Given the description of an element on the screen output the (x, y) to click on. 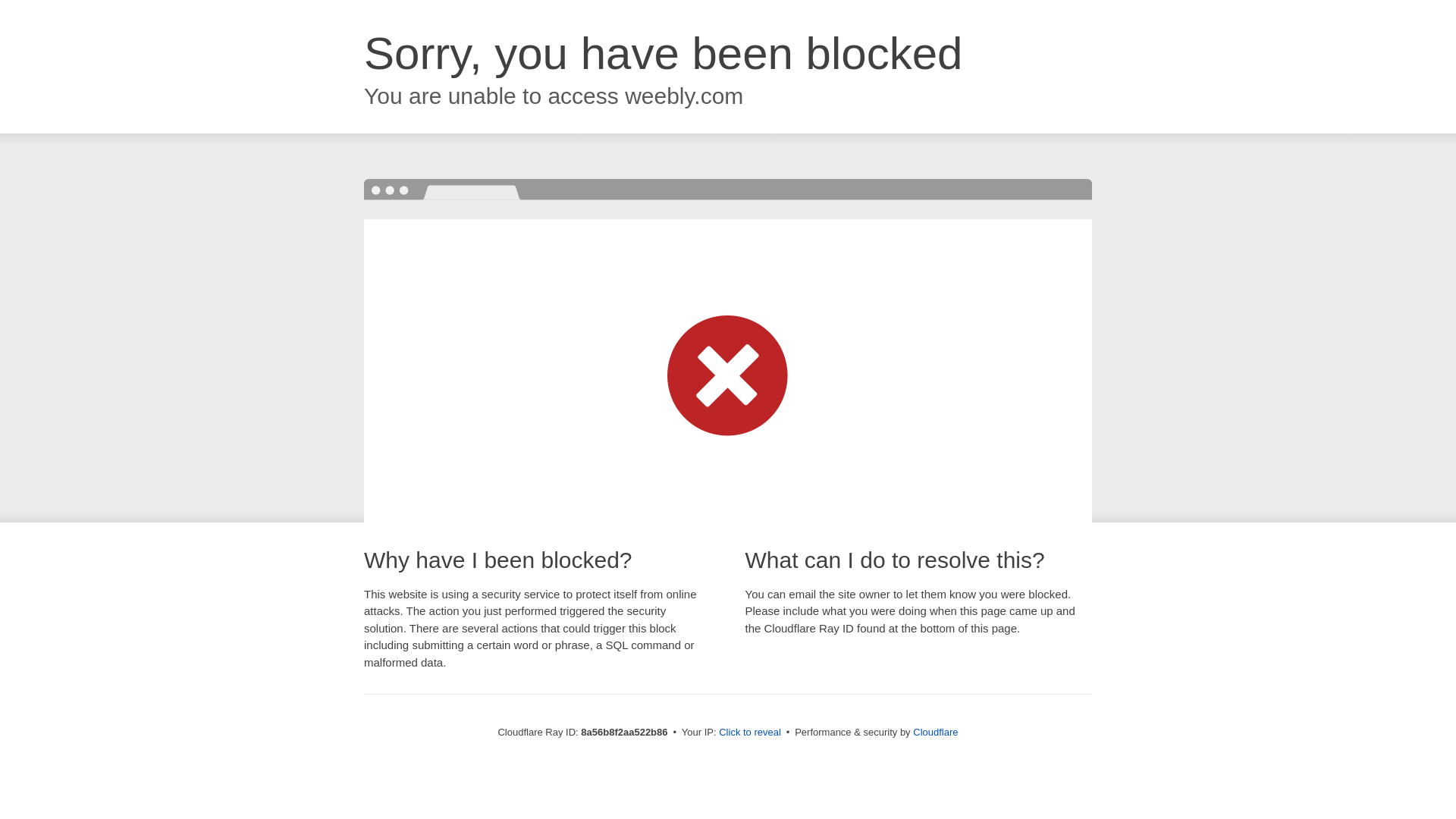
Cloudflare (935, 731)
Click to reveal (749, 732)
